Given the description of an element on the screen output the (x, y) to click on. 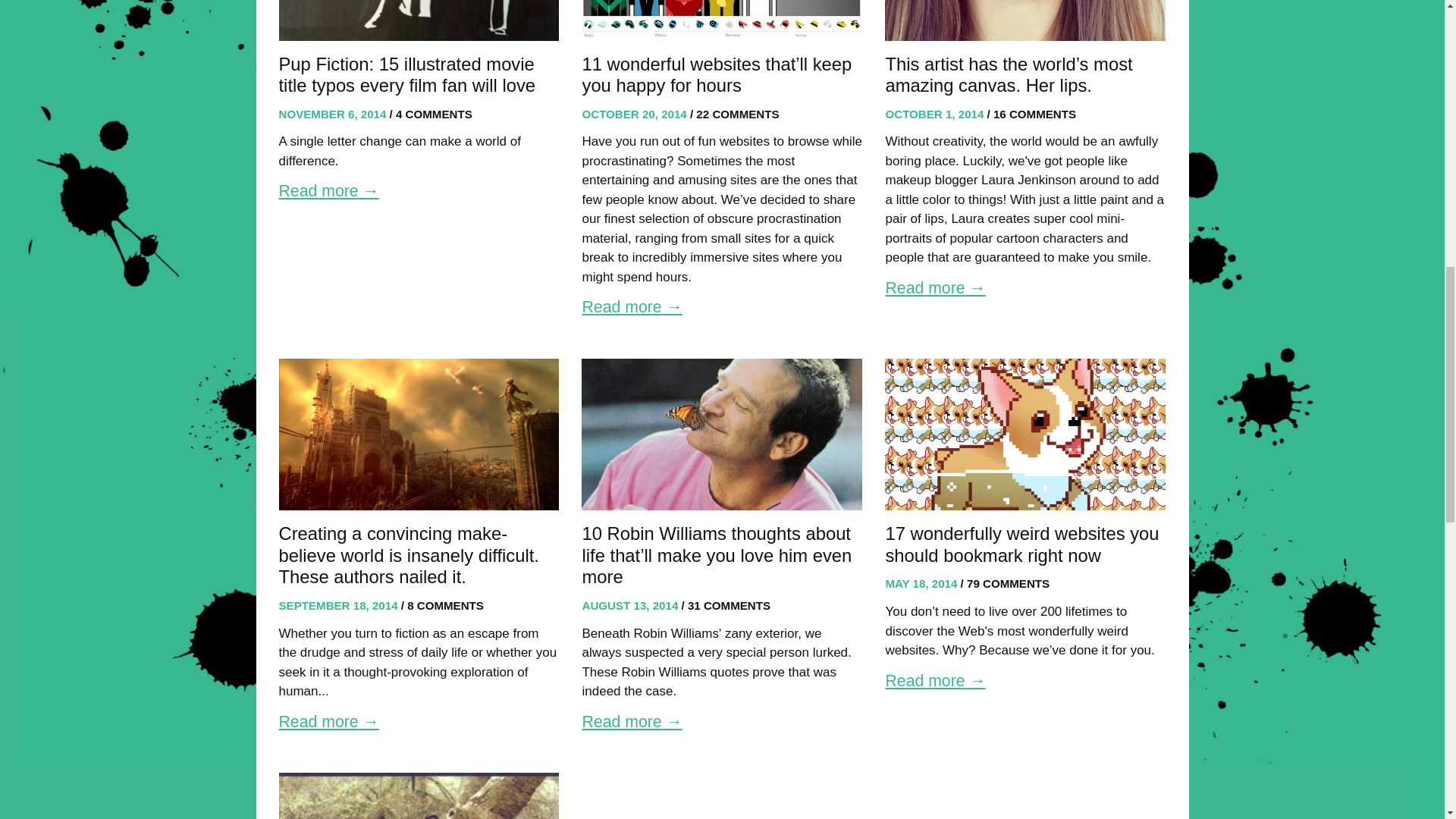
17 wonderfully weird websites you should bookmark right now (1025, 434)
